Given the description of an element on the screen output the (x, y) to click on. 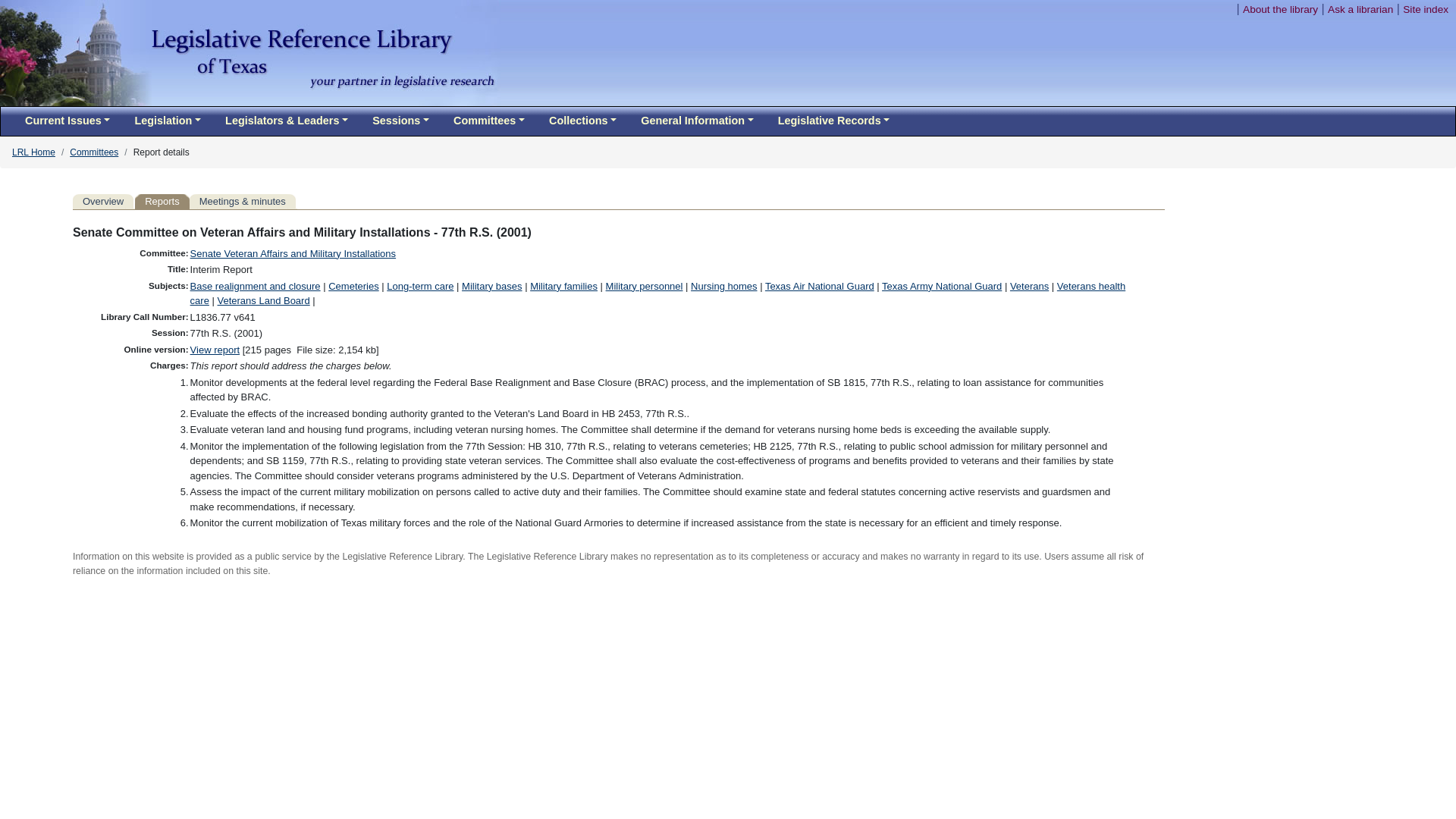
Other reports addressing: Military personnel (643, 285)
Other reports addressing: Veterans (1029, 285)
Other reports addressing: Long-term care (419, 285)
Other reports addressing: Texas Air National Guard (820, 285)
Other reports addressing: Nursing homes (723, 285)
Current Issues (67, 121)
Other reports addressing: Texas Army National Guard (941, 285)
Legislation (167, 121)
Other reports addressing: Base realignment and closure (255, 285)
Other reports addressing: Military bases (491, 285)
Site index (1425, 9)
Other reports addressing: Veterans Land Board (263, 300)
Ask a librarian (1360, 9)
Other reports addressing: Cemeteries (353, 285)
Other reports addressing: Military families (562, 285)
